Given the description of an element on the screen output the (x, y) to click on. 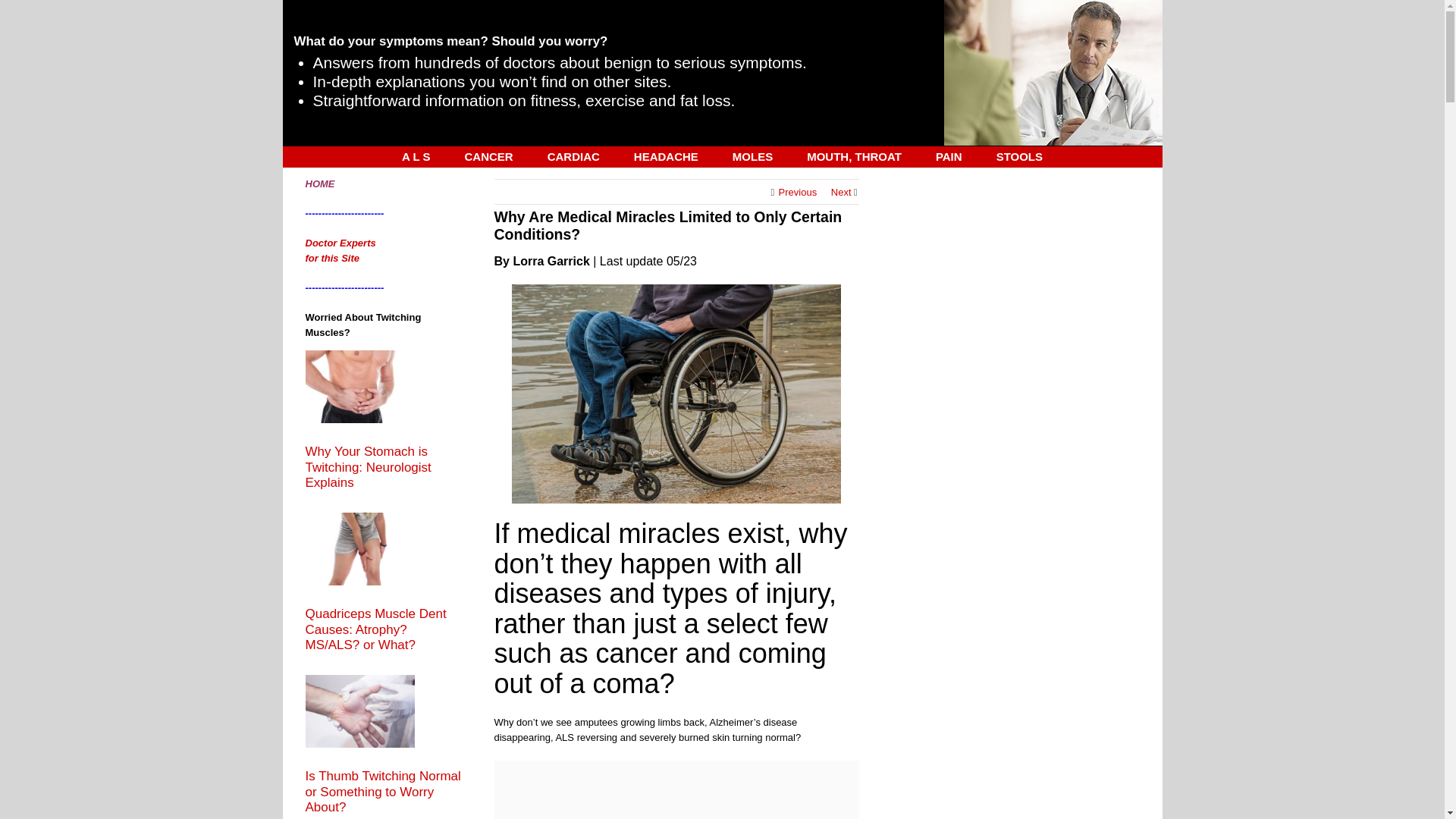
CANCER (488, 156)
CARDIAC (573, 156)
A L S (415, 156)
